Given the description of an element on the screen output the (x, y) to click on. 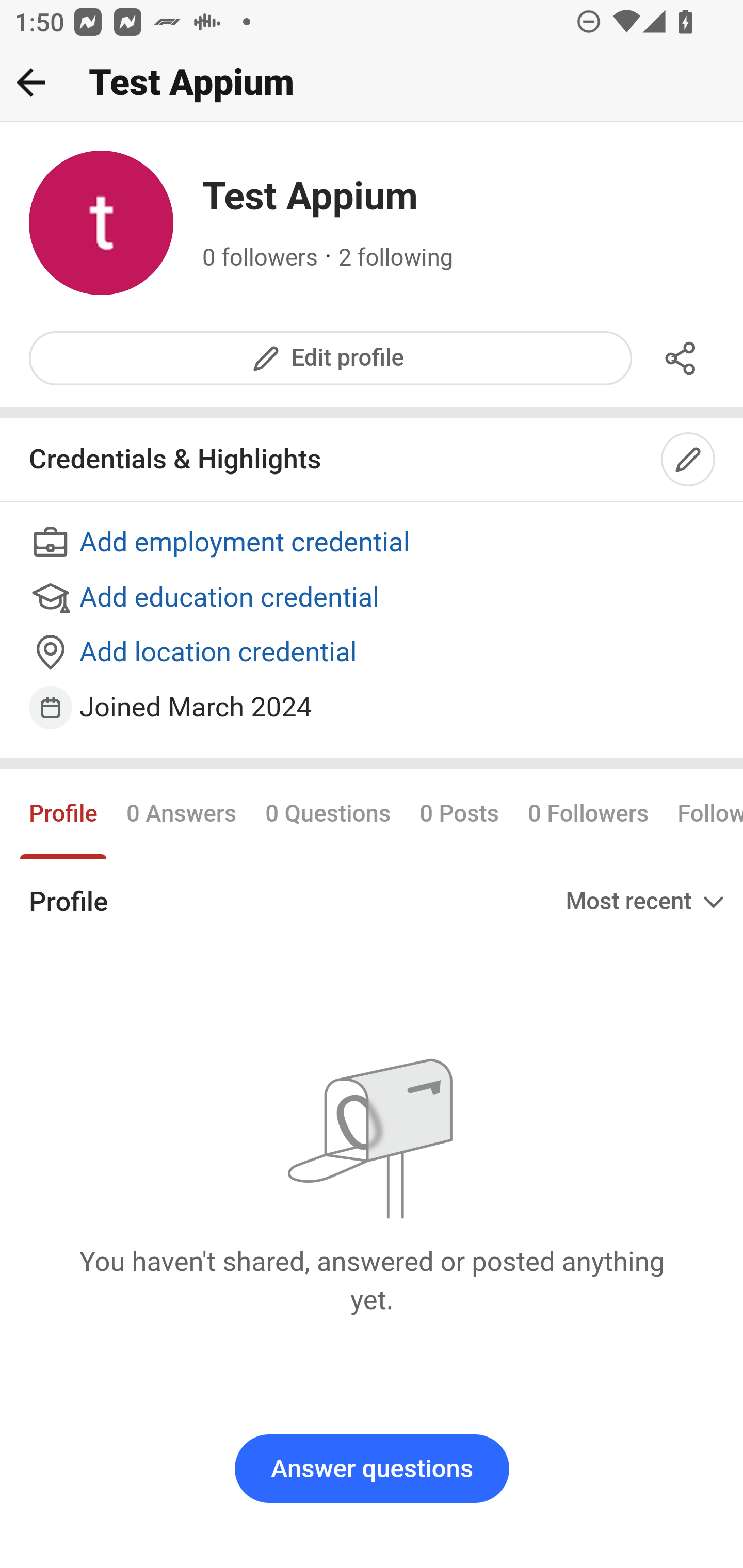
Back Test Appium (371, 82)
Back (30, 82)
0 followers (260, 257)
2 following (395, 257)
Share (681, 358)
Edit profile (330, 357)
Edit credentials (688, 459)
Add employment credential (372, 543)
Add education credential (372, 598)
Add location credential (372, 653)
Profile (63, 813)
0 Answers (180, 813)
0 Questions (327, 813)
0 Posts (459, 813)
0 Followers (588, 813)
Most recent (647, 901)
Answer questions (371, 1469)
